Given the description of an element on the screen output the (x, y) to click on. 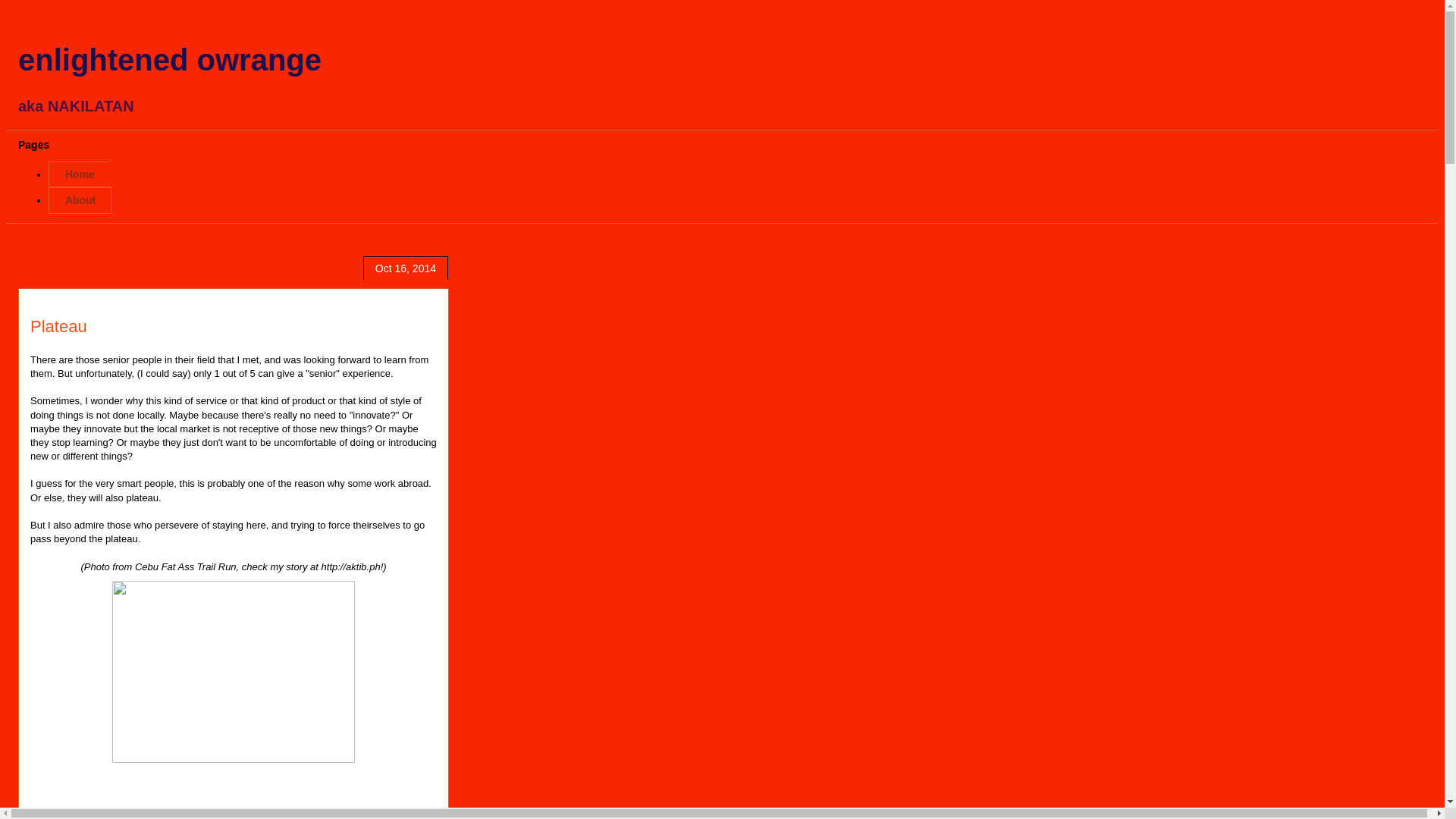
enlightened owrange (169, 59)
Home (79, 173)
About (80, 200)
